Given the description of an element on the screen output the (x, y) to click on. 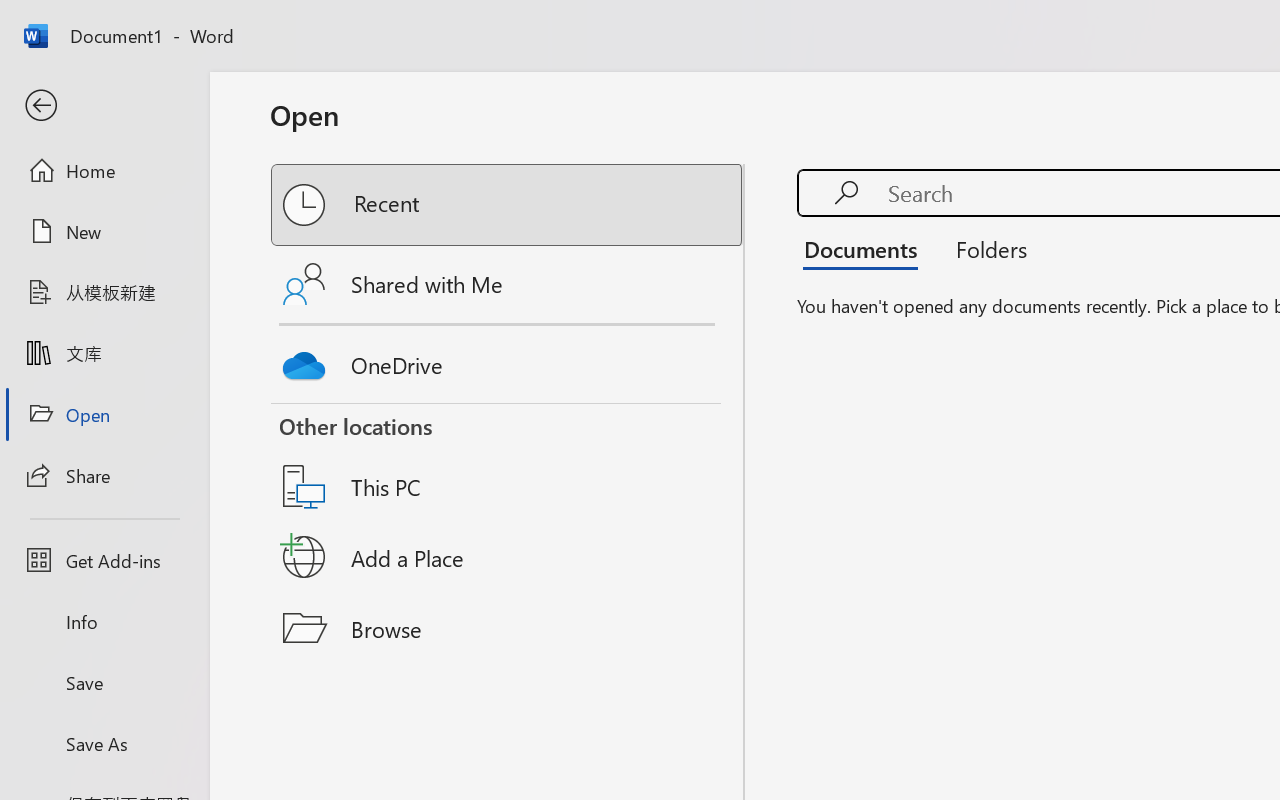
New (104, 231)
OneDrive (507, 359)
Back (104, 106)
Save As (104, 743)
Add a Place (507, 557)
